Given the description of an element on the screen output the (x, y) to click on. 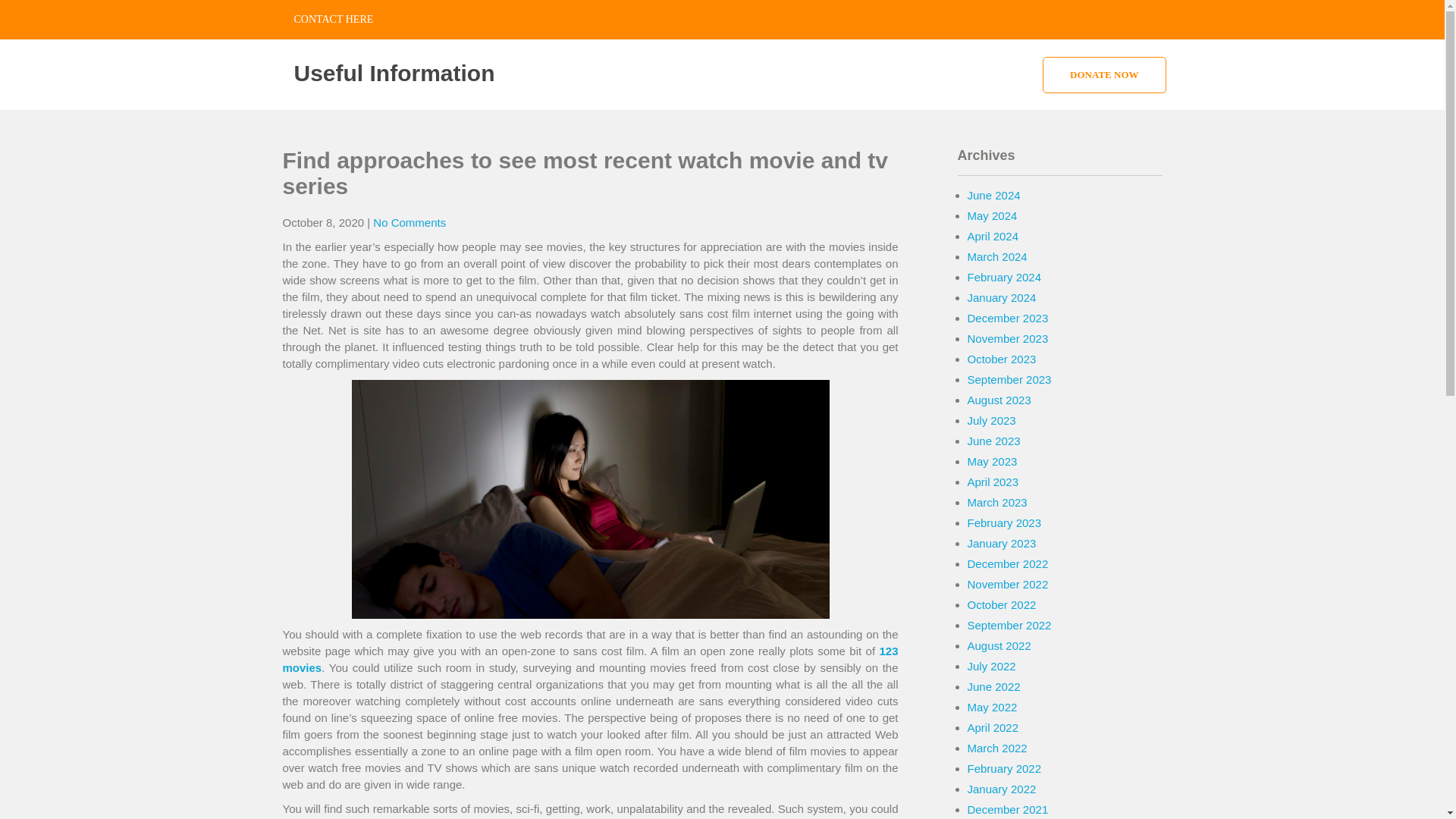
January 2024 (1002, 297)
August 2023 (999, 399)
July 2023 (992, 420)
June 2024 (994, 195)
January 2023 (1002, 543)
April 2023 (993, 481)
June 2022 (994, 686)
May 2023 (992, 461)
123 movies (590, 659)
November 2022 (1008, 584)
